Given the description of an element on the screen output the (x, y) to click on. 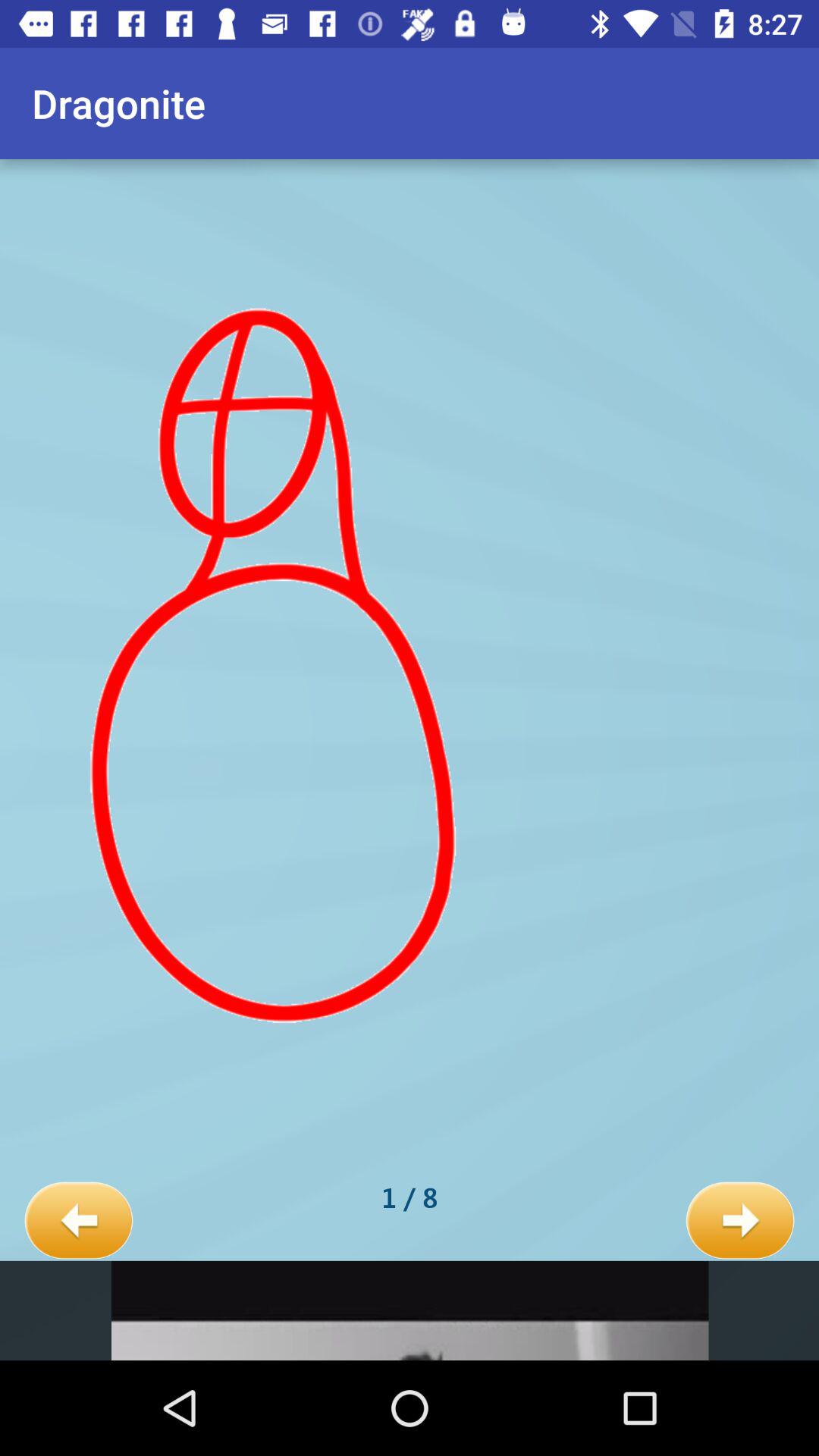
turn on the item at the bottom left corner (78, 1220)
